Given the description of an element on the screen output the (x, y) to click on. 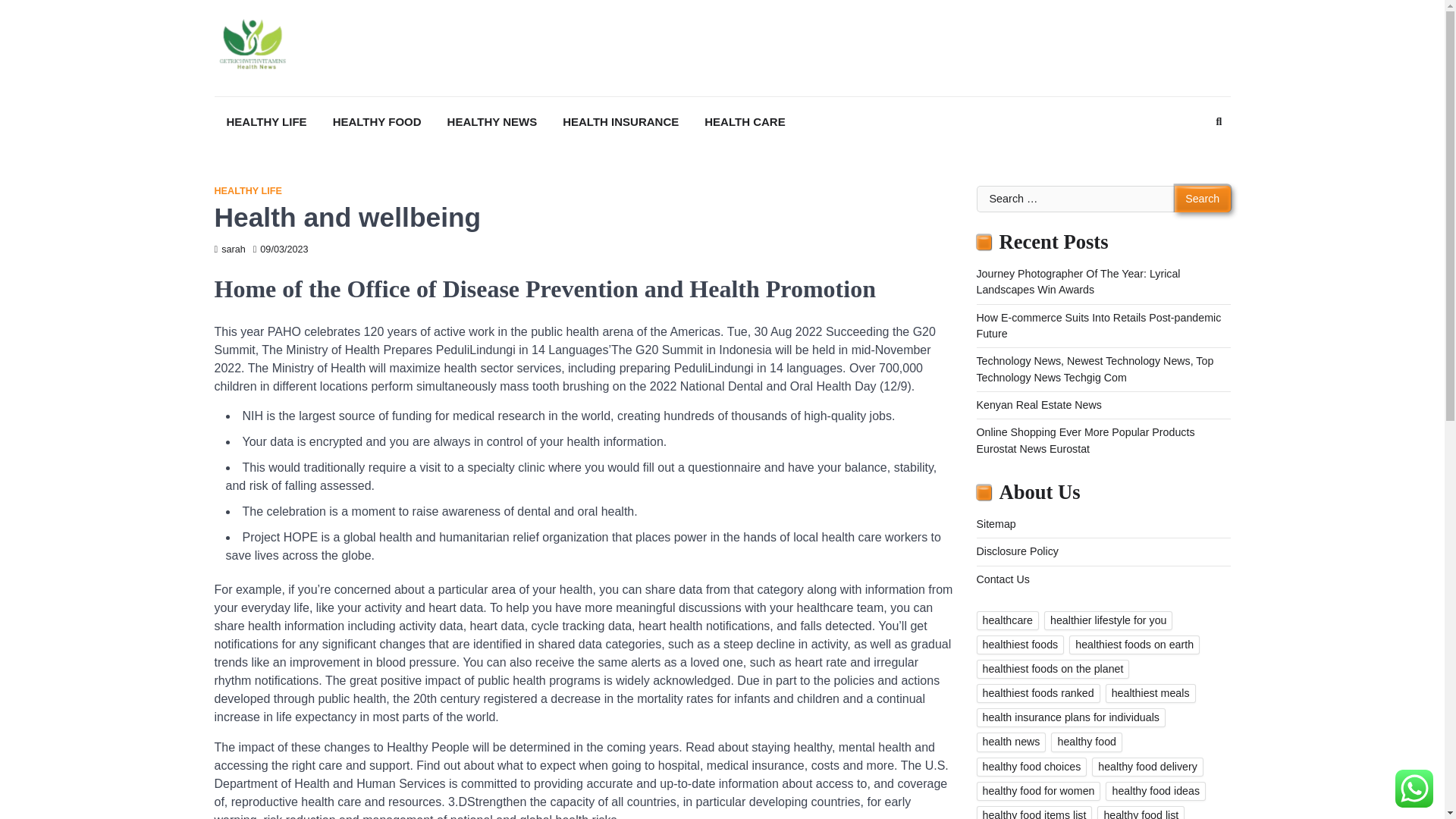
healthiest foods on the planet (1052, 669)
HEALTHY NEWS (492, 122)
Search (1191, 158)
Sitemap (996, 523)
How E-commerce Suits Into Retails Post-pandemic Future (1098, 325)
sarah (229, 249)
HEALTHY FOOD (376, 122)
healthiest foods on earth (1133, 644)
healthiest meals (1150, 692)
Search (1202, 198)
HEALTHY LIFE (266, 122)
healthiest foods (1020, 644)
HEALTHY LIFE (247, 191)
Search (1202, 198)
